Given the description of an element on the screen output the (x, y) to click on. 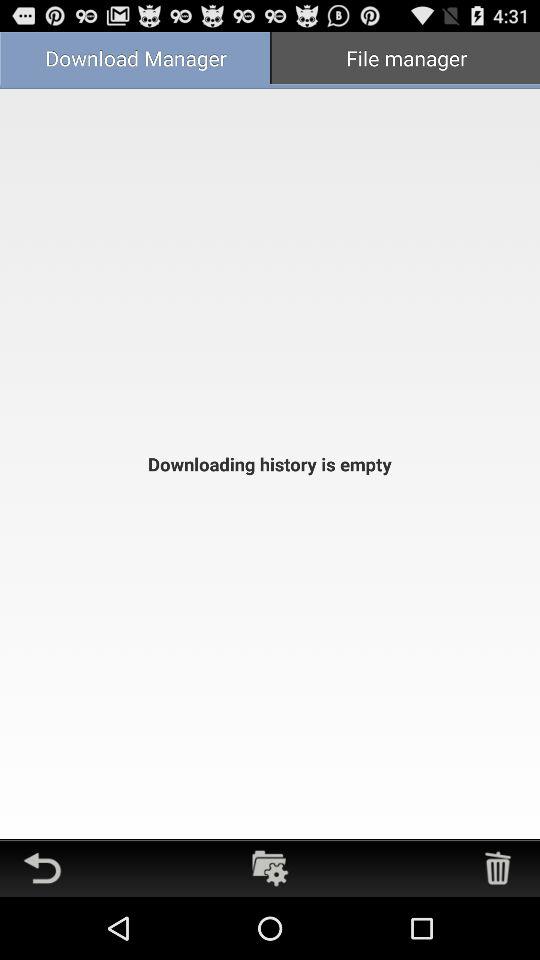
launch the icon at the top right corner (405, 60)
